Given the description of an element on the screen output the (x, y) to click on. 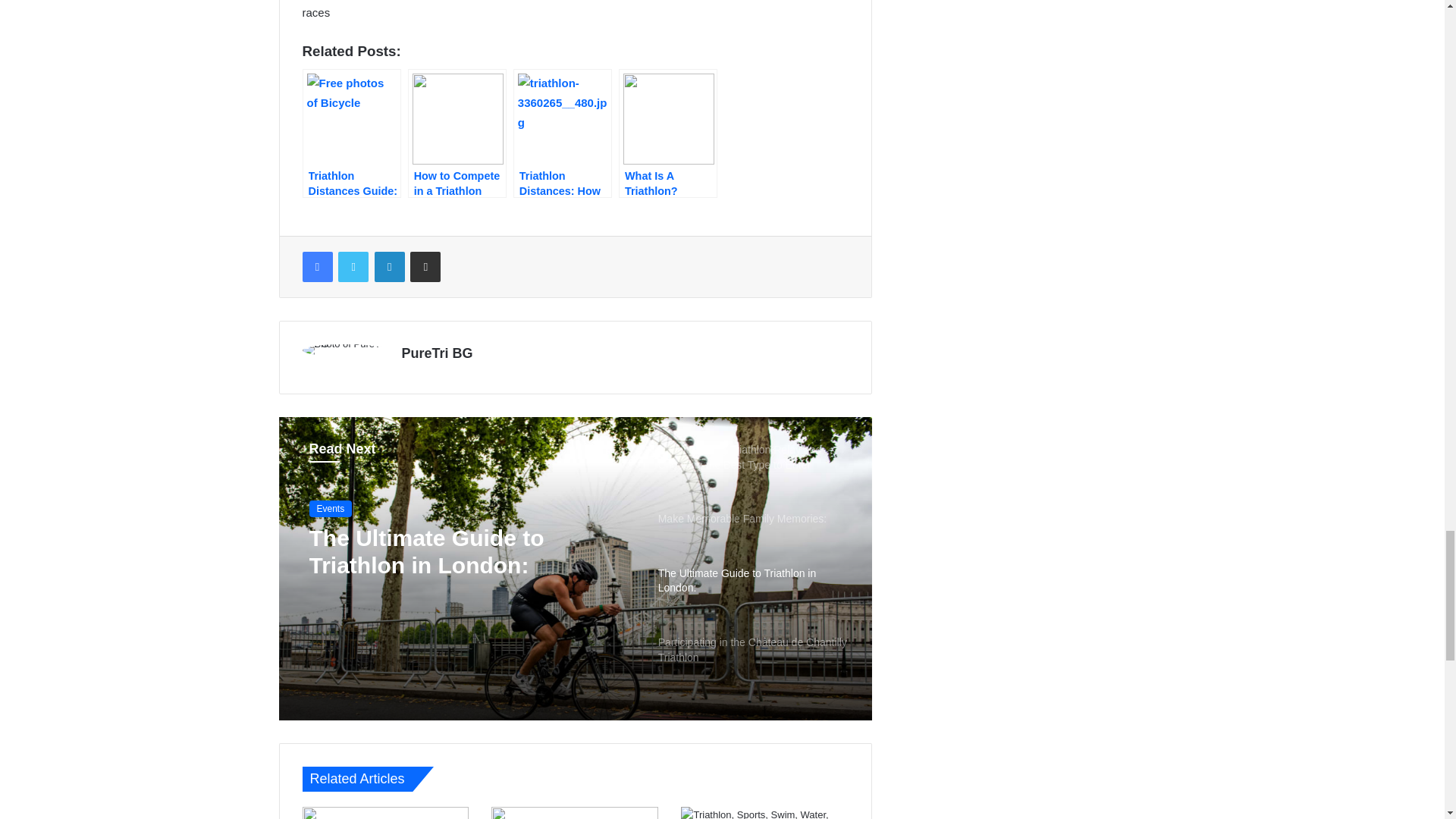
Twitter (352, 266)
Share via Email (425, 266)
Facebook (316, 266)
Facebook (316, 266)
LinkedIn (389, 266)
Twitter (352, 266)
Share via Email (425, 266)
PureTri BG (437, 353)
LinkedIn (389, 266)
